Given the description of an element on the screen output the (x, y) to click on. 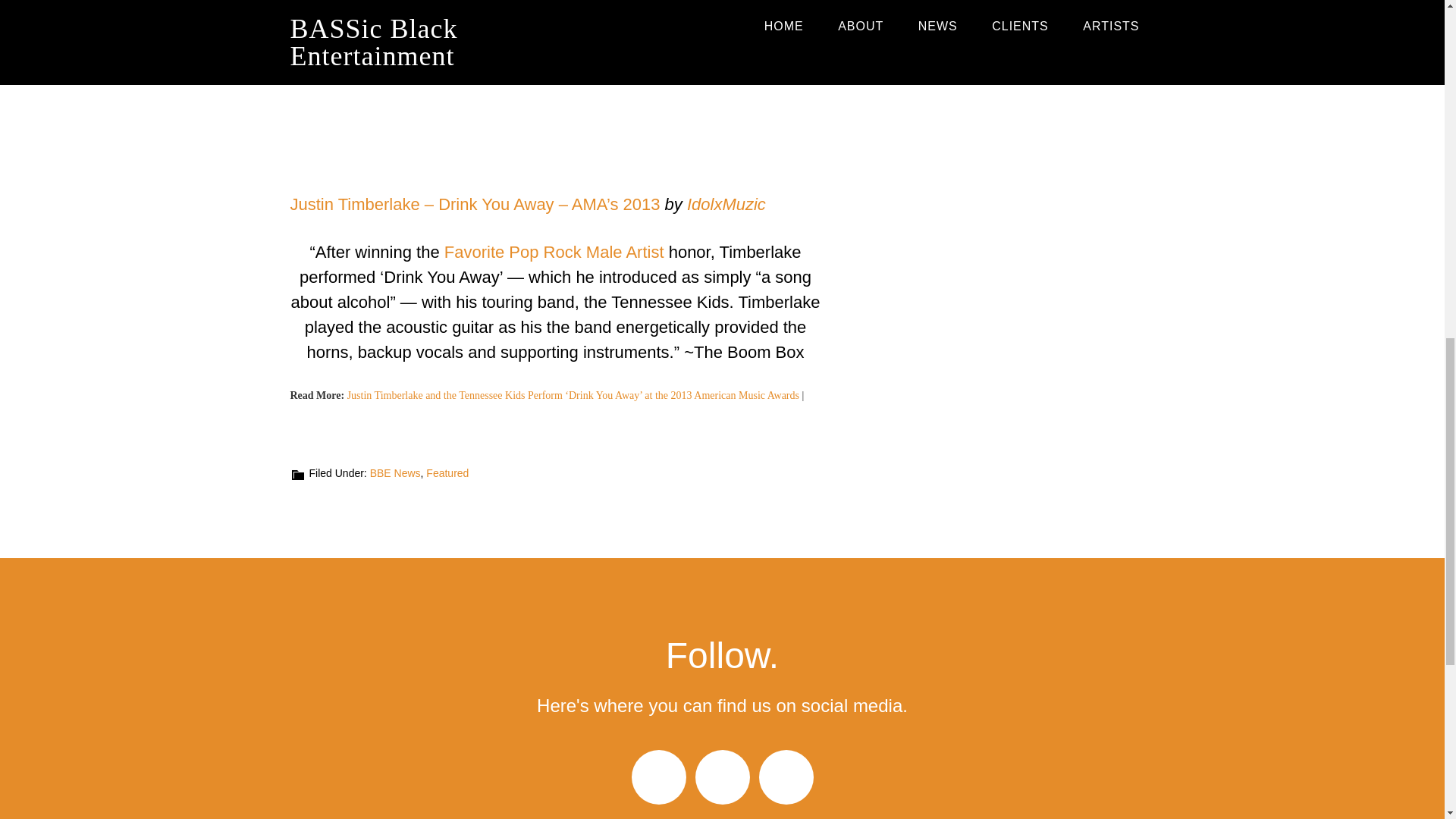
BBE News (394, 472)
IdolxMuzic (726, 203)
Featured (447, 472)
Favorite Pop Rock Male Artist (553, 251)
